Given the description of an element on the screen output the (x, y) to click on. 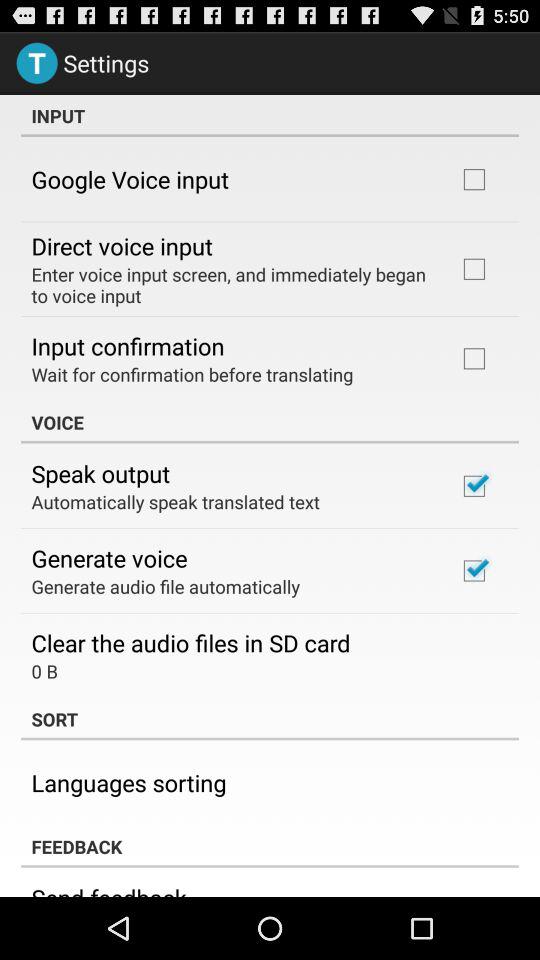
turn off icon below 0 b item (270, 719)
